Given the description of an element on the screen output the (x, y) to click on. 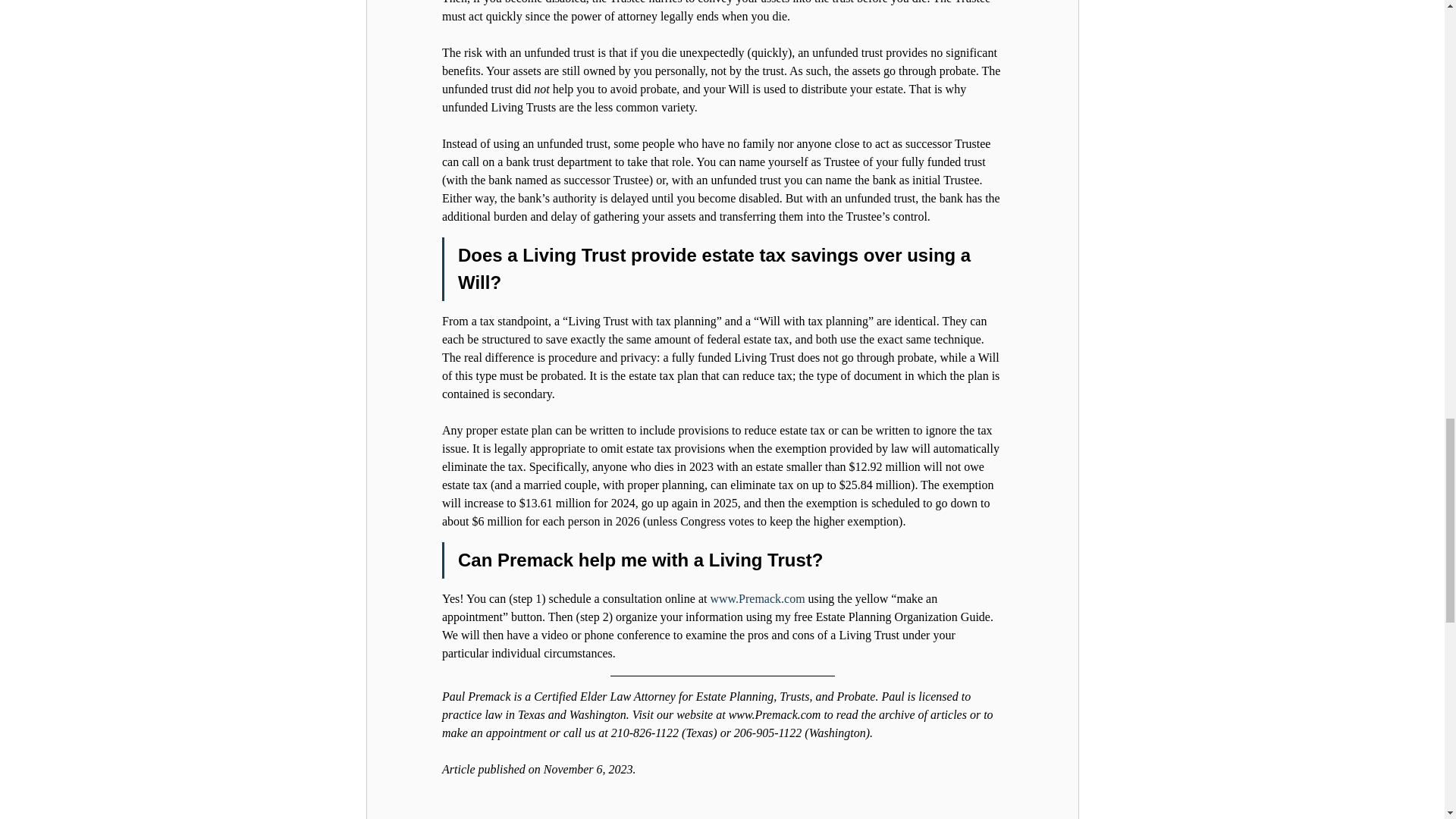
www.Premack.com (757, 598)
